Given the description of an element on the screen output the (x, y) to click on. 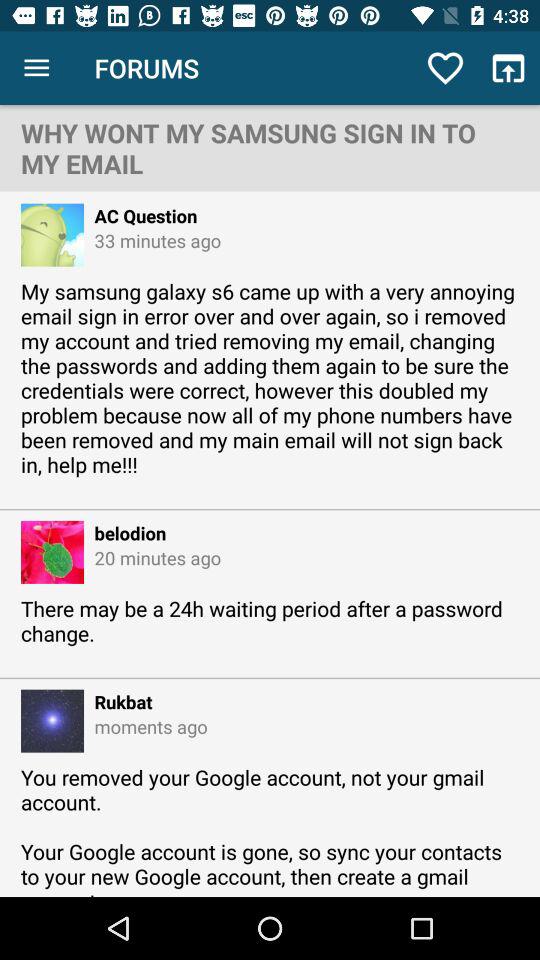
scroll until you removed your (270, 829)
